Given the description of an element on the screen output the (x, y) to click on. 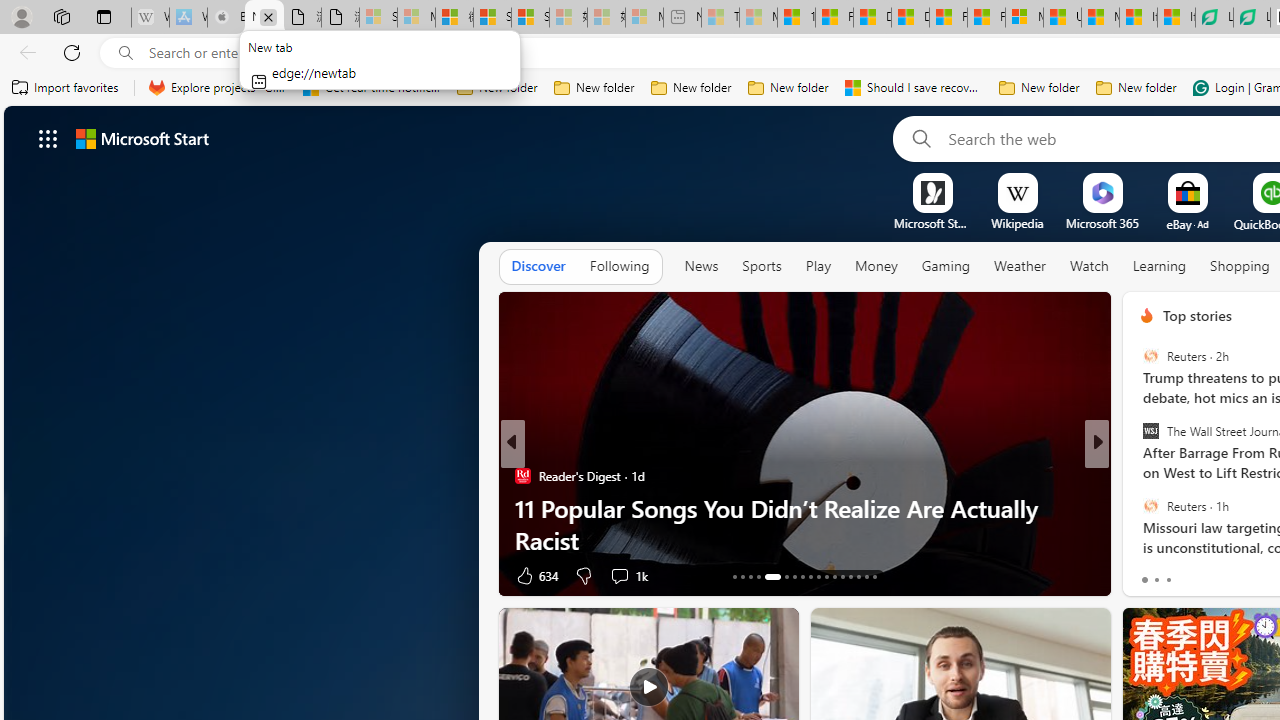
Microsoft start (142, 138)
AutomationID: tab-44 (865, 576)
AutomationID: tab-18 (786, 576)
App launcher (47, 138)
New folder (1136, 88)
4 Like (1145, 574)
